Given the description of an element on the screen output the (x, y) to click on. 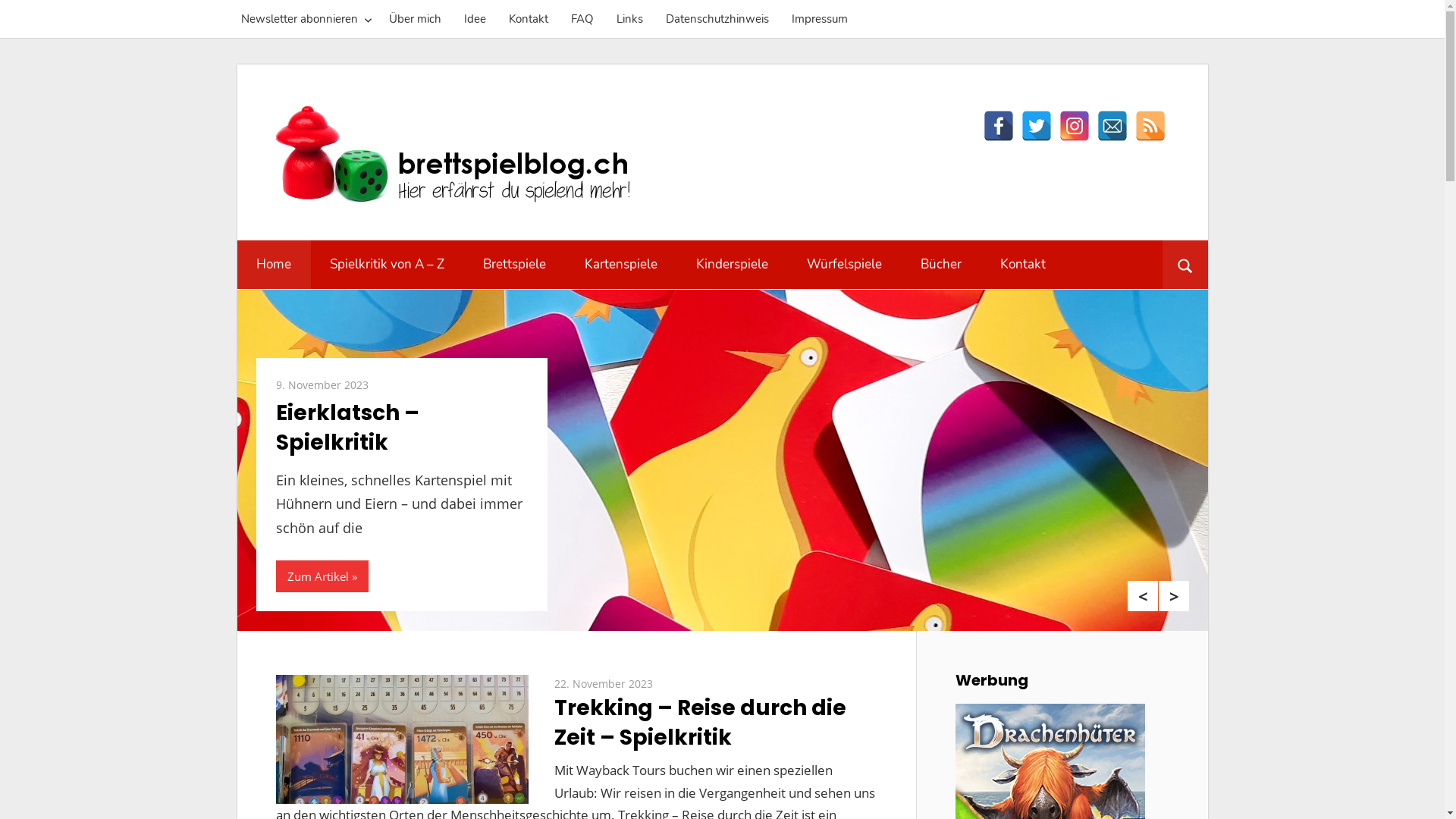
Kinderspiele Element type: text (731, 264)
Next Element type: text (1173, 595)
Newsletter abonnieren Element type: text (302, 18)
Previous Element type: text (1142, 595)
9. November 2023 Element type: text (322, 384)
Facebook Element type: hover (997, 125)
Zum Artikel Element type: text (322, 575)
Datenschutzhinweis Element type: text (716, 18)
Twitter Element type: hover (1035, 125)
RSS Feed Element type: hover (1149, 125)
22. November 2023 Element type: text (603, 683)
Zum Inhalt springen Element type: text (236, 63)
Paddy Element type: text (668, 683)
Kontakt Element type: text (1023, 264)
Links Element type: text (629, 18)
Instagram Element type: hover (1073, 125)
Idee Element type: text (473, 18)
Brettspiele Element type: text (514, 264)
Kartenspiele Element type: text (621, 264)
Home Element type: text (273, 264)
FAQ Element type: text (582, 18)
Paddy Element type: text (383, 384)
Kontakt Element type: text (528, 18)
Impressum Element type: text (818, 18)
Email Element type: hover (1111, 125)
